Given the description of an element on the screen output the (x, y) to click on. 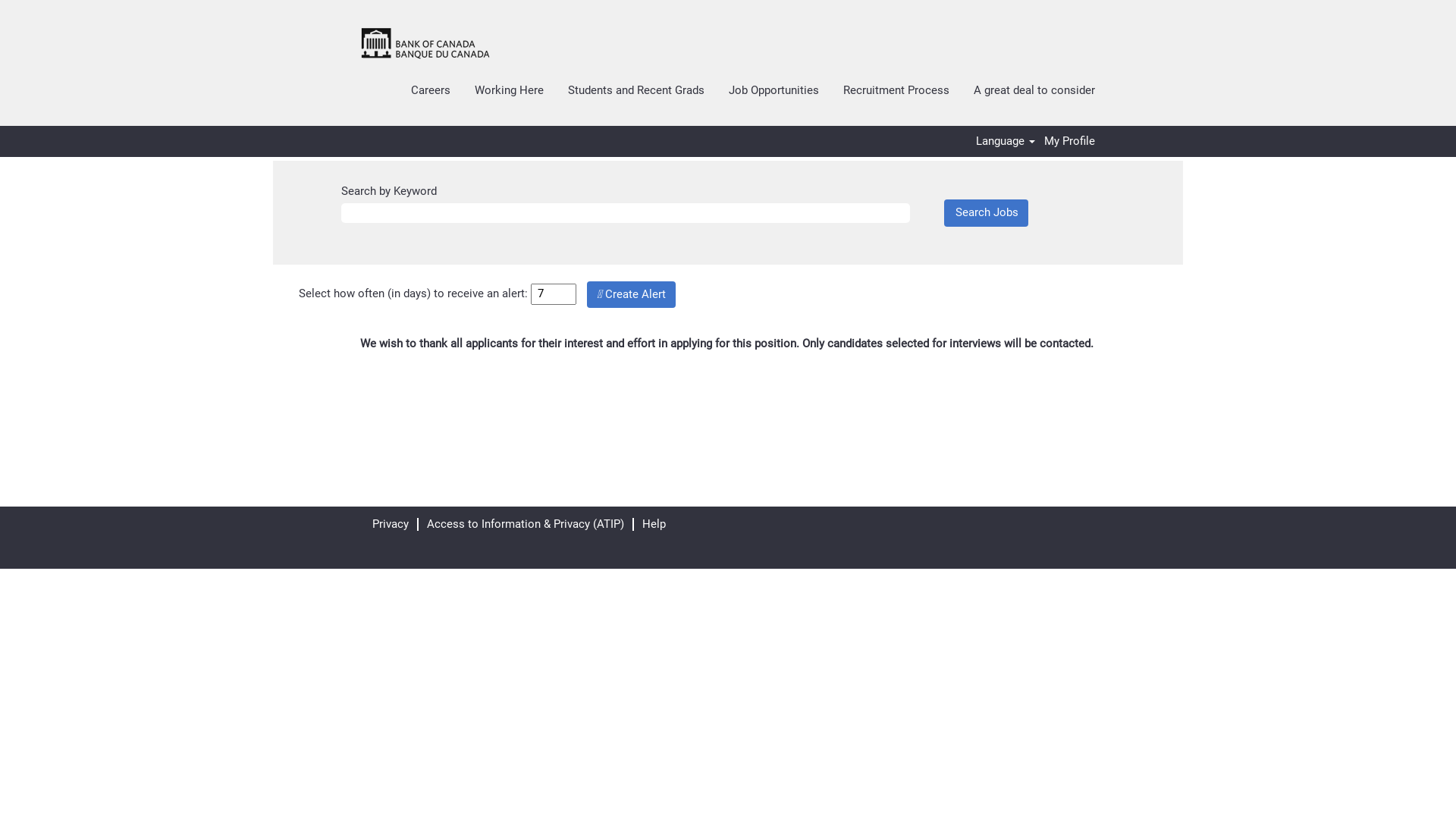
My Profile Element type: text (1069, 140)
Privacy Element type: text (390, 523)
Help Element type: text (653, 523)
Language Element type: text (1005, 140)
Working Here Element type: text (508, 90)
Recruitment Process Element type: text (896, 90)
Access to Information & Privacy (ATIP) Element type: text (525, 523)
Careers Element type: text (430, 90)
Search Jobs Element type: text (986, 212)
Create Alert Element type: text (630, 294)
Students and Recent Grads Element type: text (636, 90)
Job Opportunities Element type: text (773, 90)
A great deal to consider Element type: text (1033, 90)
